Given the description of an element on the screen output the (x, y) to click on. 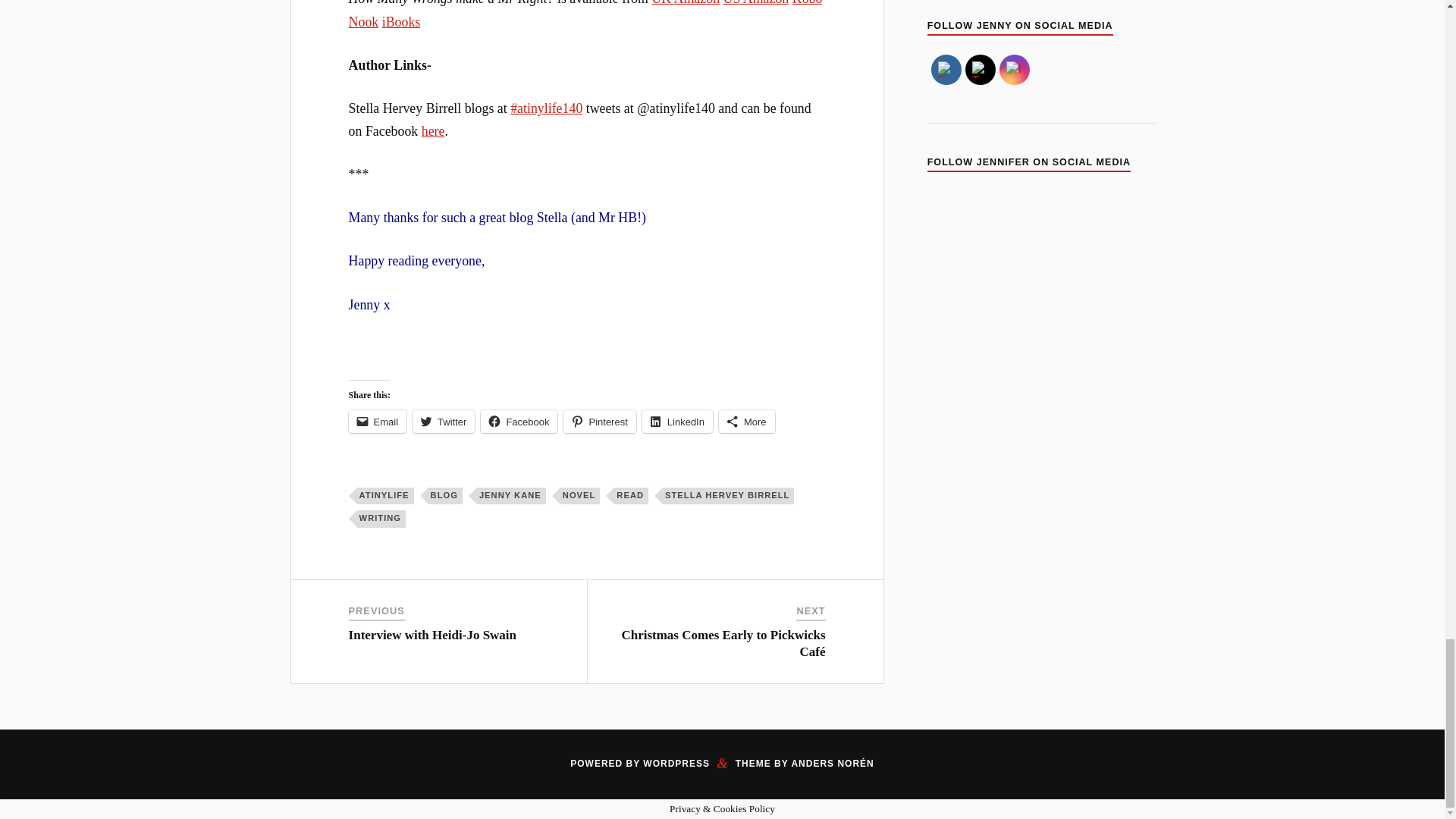
Nook (363, 21)
here (433, 130)
Twitter (443, 421)
Click to share on Facebook (518, 421)
Click to share on Pinterest (598, 421)
Email (378, 421)
Click to share on LinkedIn (677, 421)
Kobo (807, 2)
US Amazon (756, 2)
Click to email a link to a friend (378, 421)
Facebook (946, 69)
UK Amazon (684, 2)
Instagram (1014, 69)
iBooks (400, 21)
Twitter (980, 69)
